Given the description of an element on the screen output the (x, y) to click on. 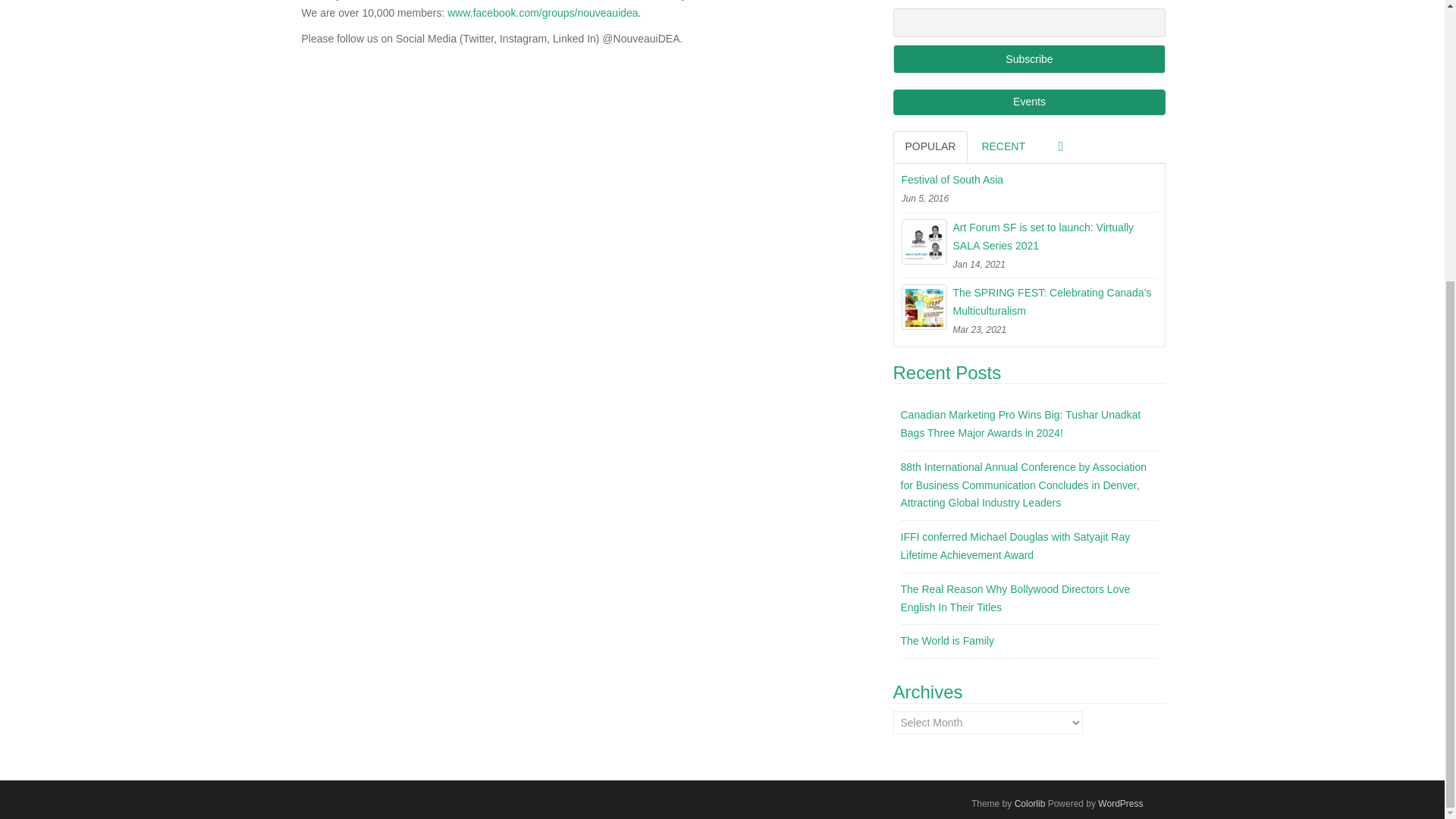
Festival of South Asia (1029, 180)
Subscribe (1029, 59)
Art Forum SF is set to launch: Virtually SALA Series 2021 (1029, 237)
POPULAR (930, 146)
Subscribe (1029, 59)
Nouveau iDEA (390, 0)
Events (1029, 102)
Art Forum SF is set to launch: Virtually SALA Series 2021 (1029, 237)
RECENT (1002, 146)
Festival of South Asia (1029, 180)
Art Forum SF is set to launch: Virtually SALA Series 2021 (923, 241)
